Given the description of an element on the screen output the (x, y) to click on. 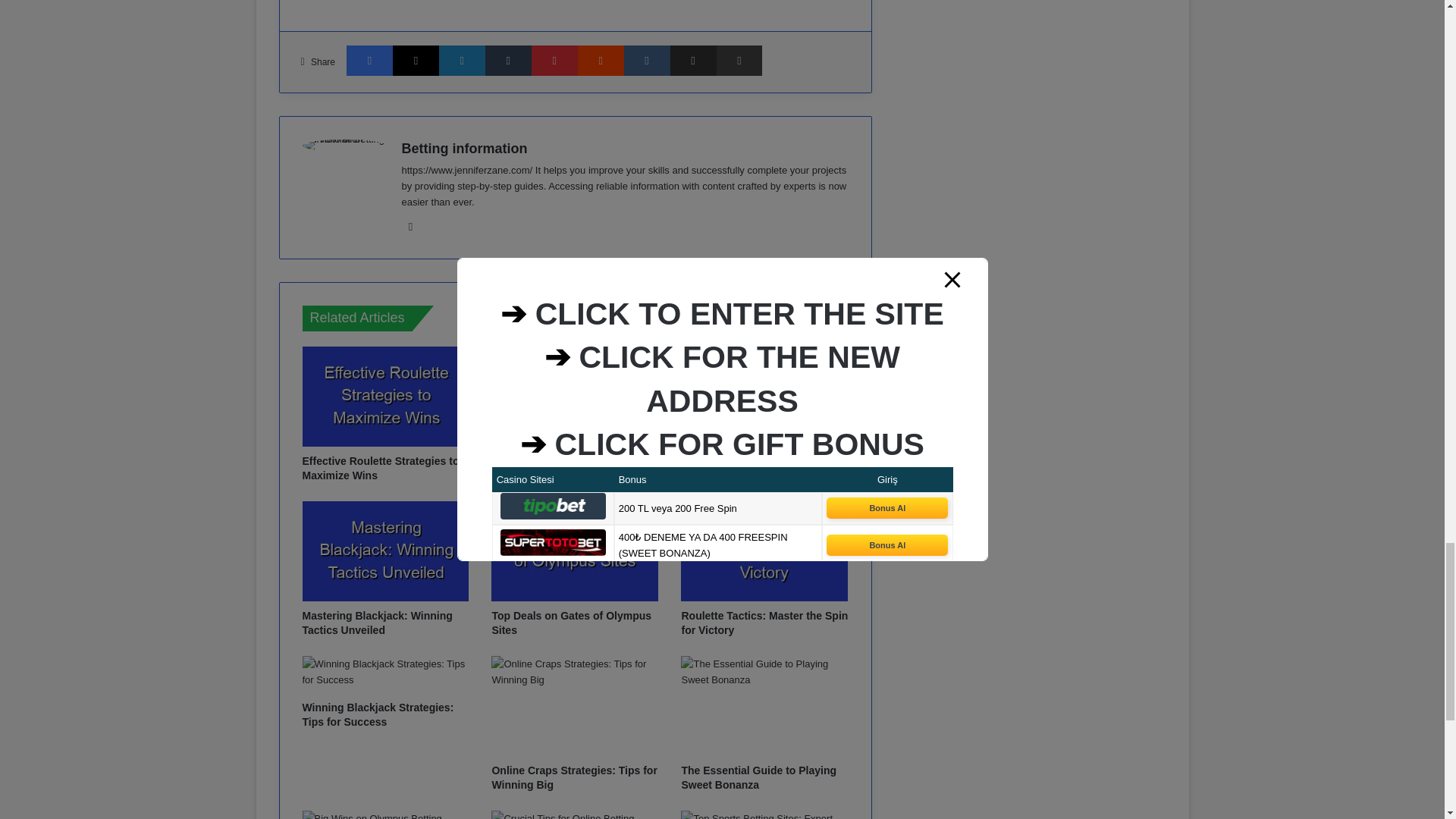
VKontakte (646, 60)
LinkedIn (461, 60)
Facebook (369, 60)
LinkedIn (461, 60)
Effective Roulette Strategies to Maximize Wins (379, 468)
Share via Email (692, 60)
X (416, 60)
VKontakte (646, 60)
Share via Email (692, 60)
Print (738, 60)
